Given the description of an element on the screen output the (x, y) to click on. 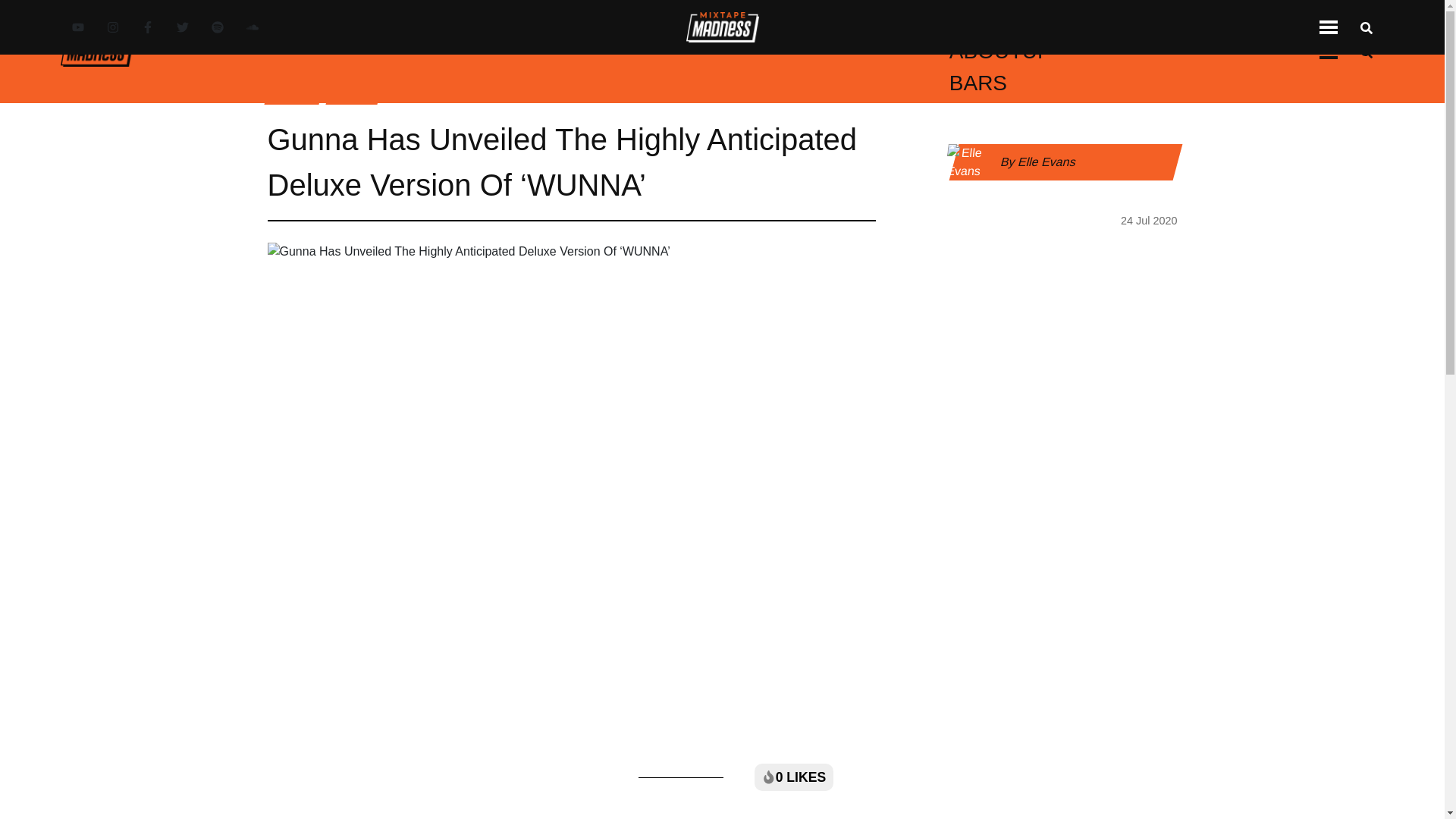
0 LIKES (793, 777)
NEWS (473, 20)
MUSIC (408, 20)
INTERVIEWS (785, 20)
REVIEWS (900, 20)
VIDEOS (545, 20)
SHOWS (1118, 20)
EXCLUSIVES (652, 20)
